Given the description of an element on the screen output the (x, y) to click on. 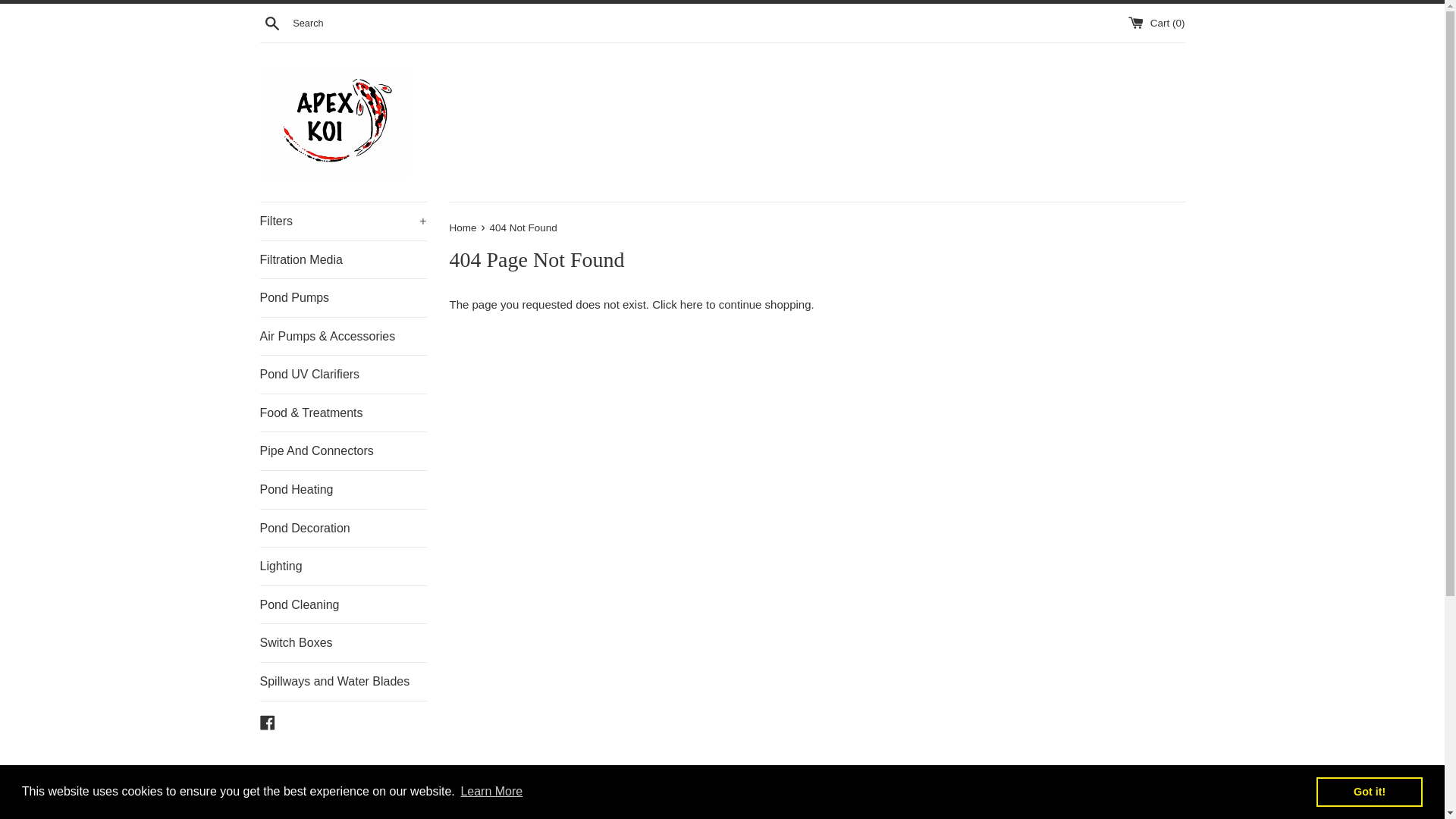
here (691, 304)
Filtration Media (342, 259)
Got it! (1369, 791)
Back to the frontpage (463, 227)
Facebook (267, 721)
Learn More (491, 791)
Pond Pumps (342, 297)
Pond UV Clarifiers (342, 374)
Pond Decoration (342, 528)
Switch Boxes (342, 642)
Pipe And Connectors (342, 451)
Lighting (342, 566)
Pond Cleaning (342, 605)
Apex Koi on Facebook (267, 721)
Search (271, 21)
